Given the description of an element on the screen output the (x, y) to click on. 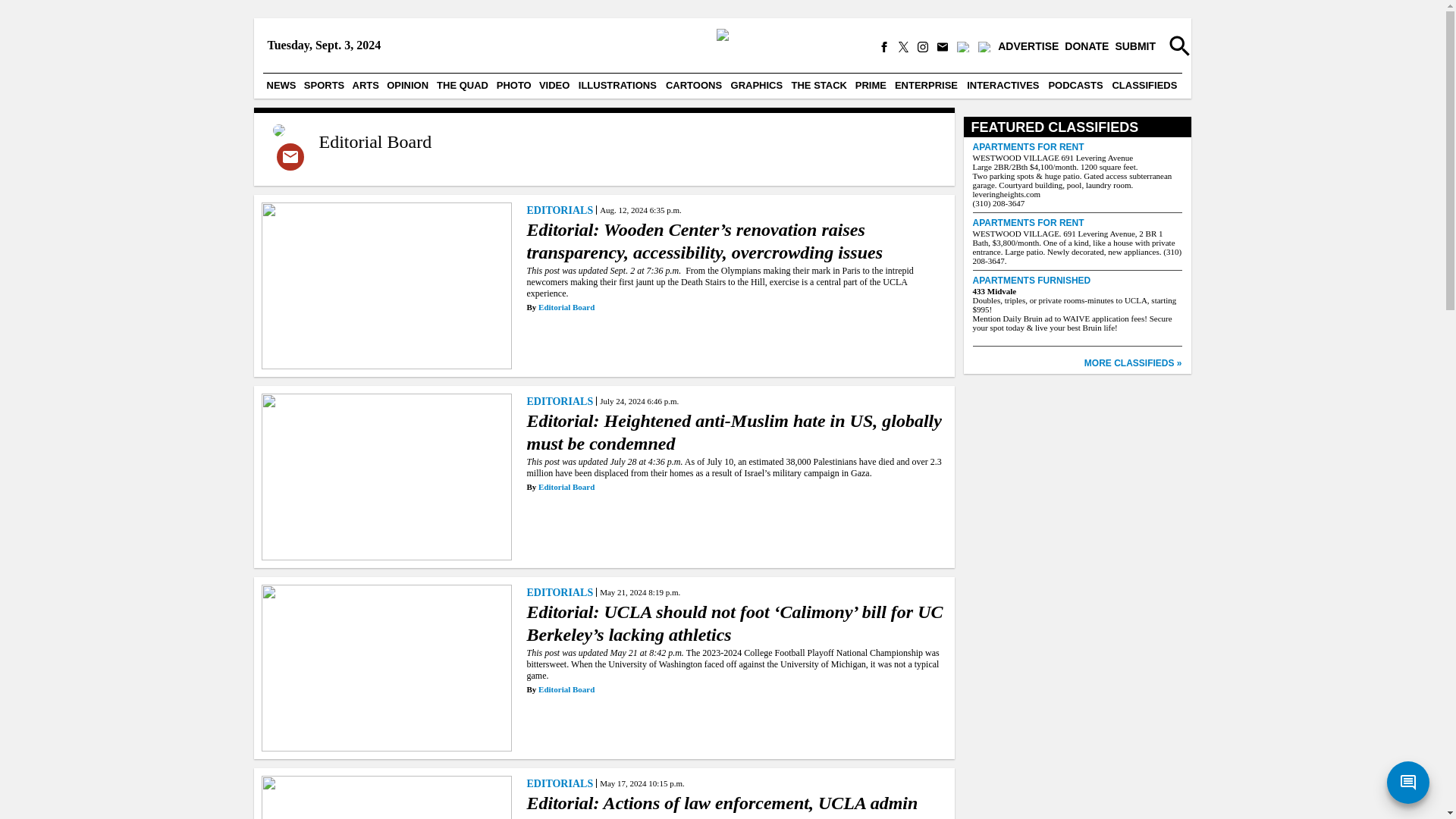
CARTOONS (693, 85)
Editorial Board (374, 141)
EDITORIALS (560, 400)
EDITORIALS (560, 209)
DONATE (1086, 46)
PRIME (870, 85)
PHOTO (514, 85)
INTERACTIVES (1002, 85)
ARTS (365, 85)
